Given the description of an element on the screen output the (x, y) to click on. 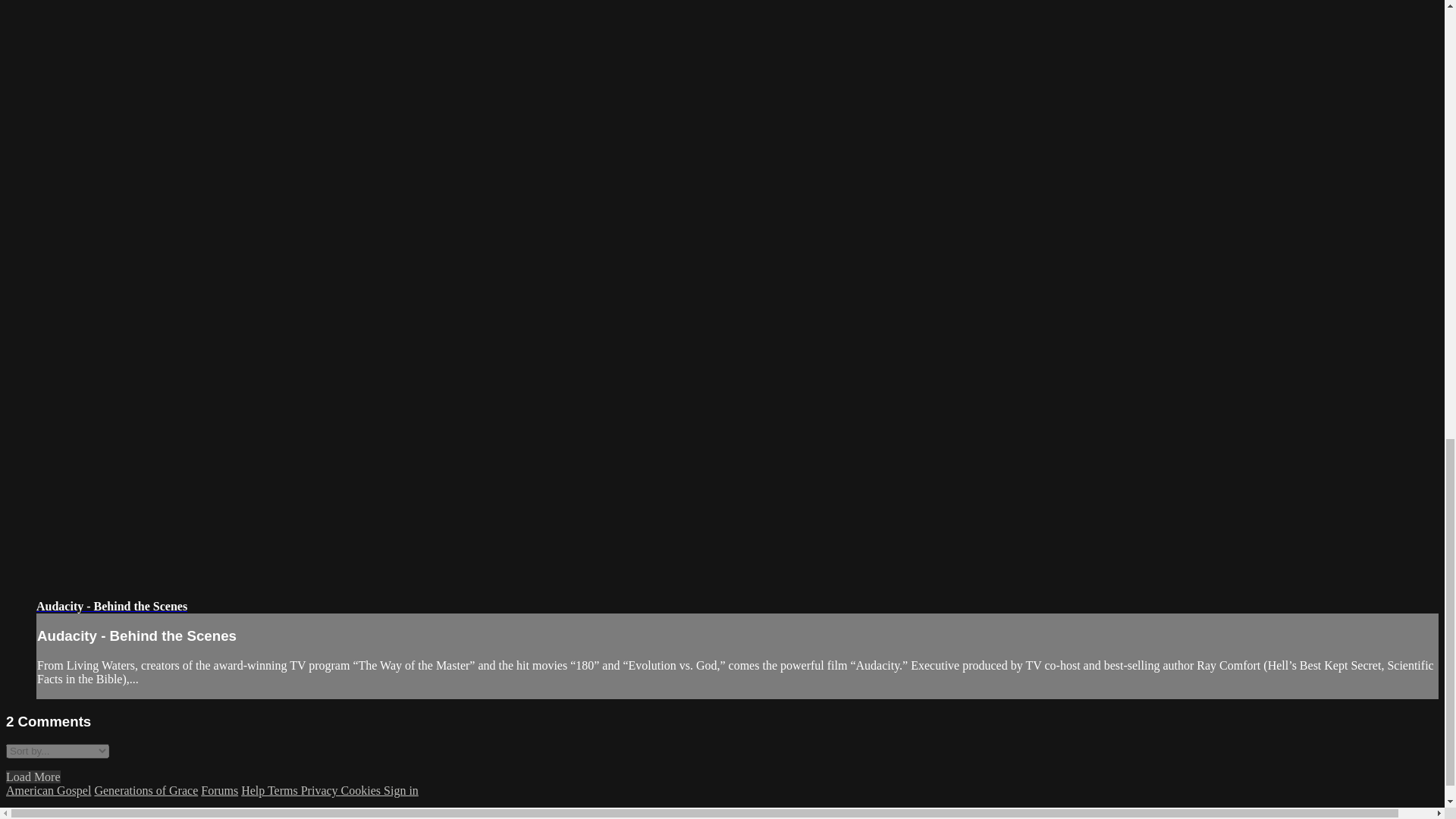
Help (254, 789)
Audacity - Behind the Scenes (111, 605)
Load More (33, 776)
Forums (219, 789)
American Gospel (47, 789)
Generations of Grace (146, 789)
Audacity - Behind the Scenes (111, 605)
